Given the description of an element on the screen output the (x, y) to click on. 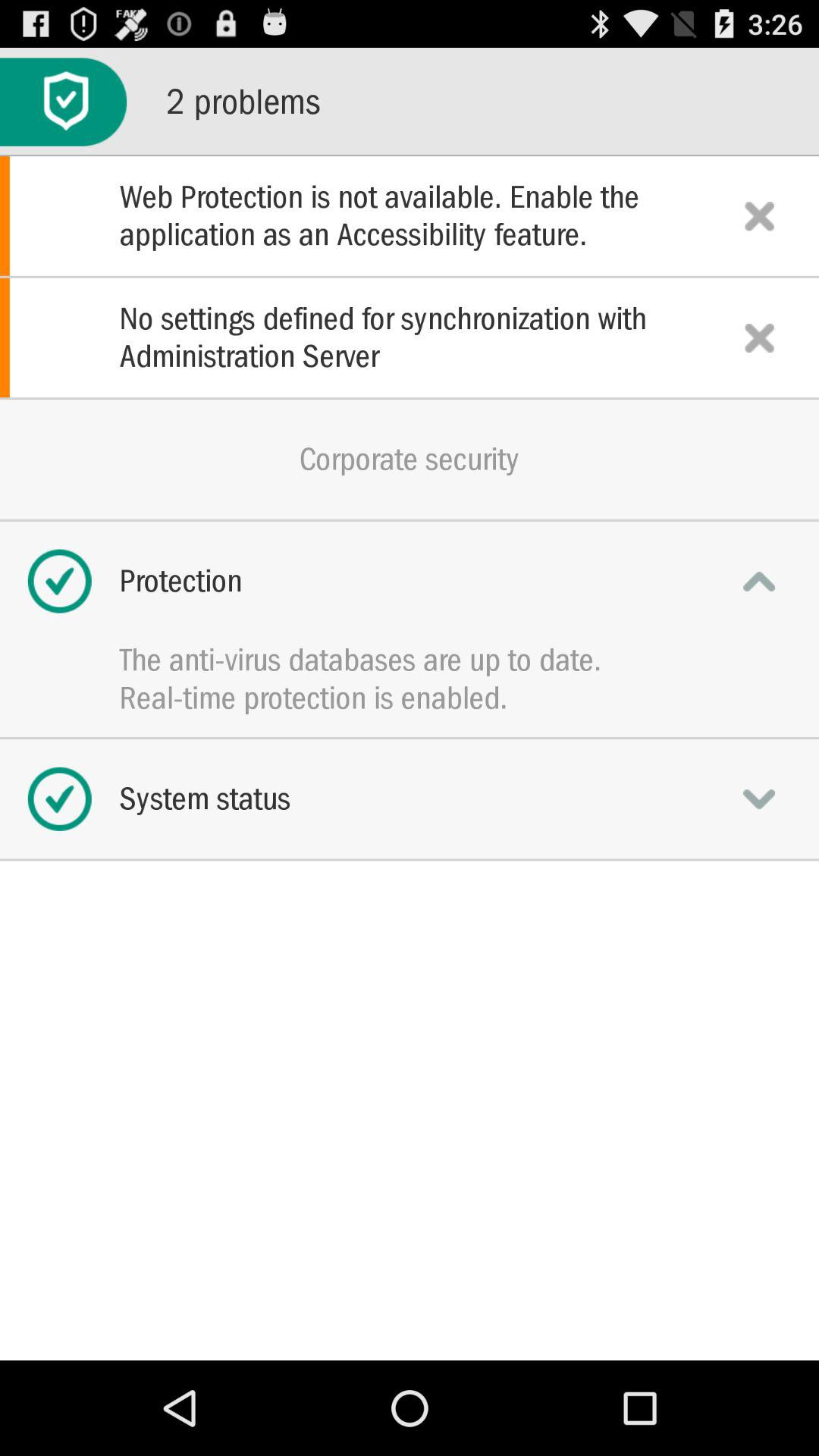
collapse (759, 580)
